Given the description of an element on the screen output the (x, y) to click on. 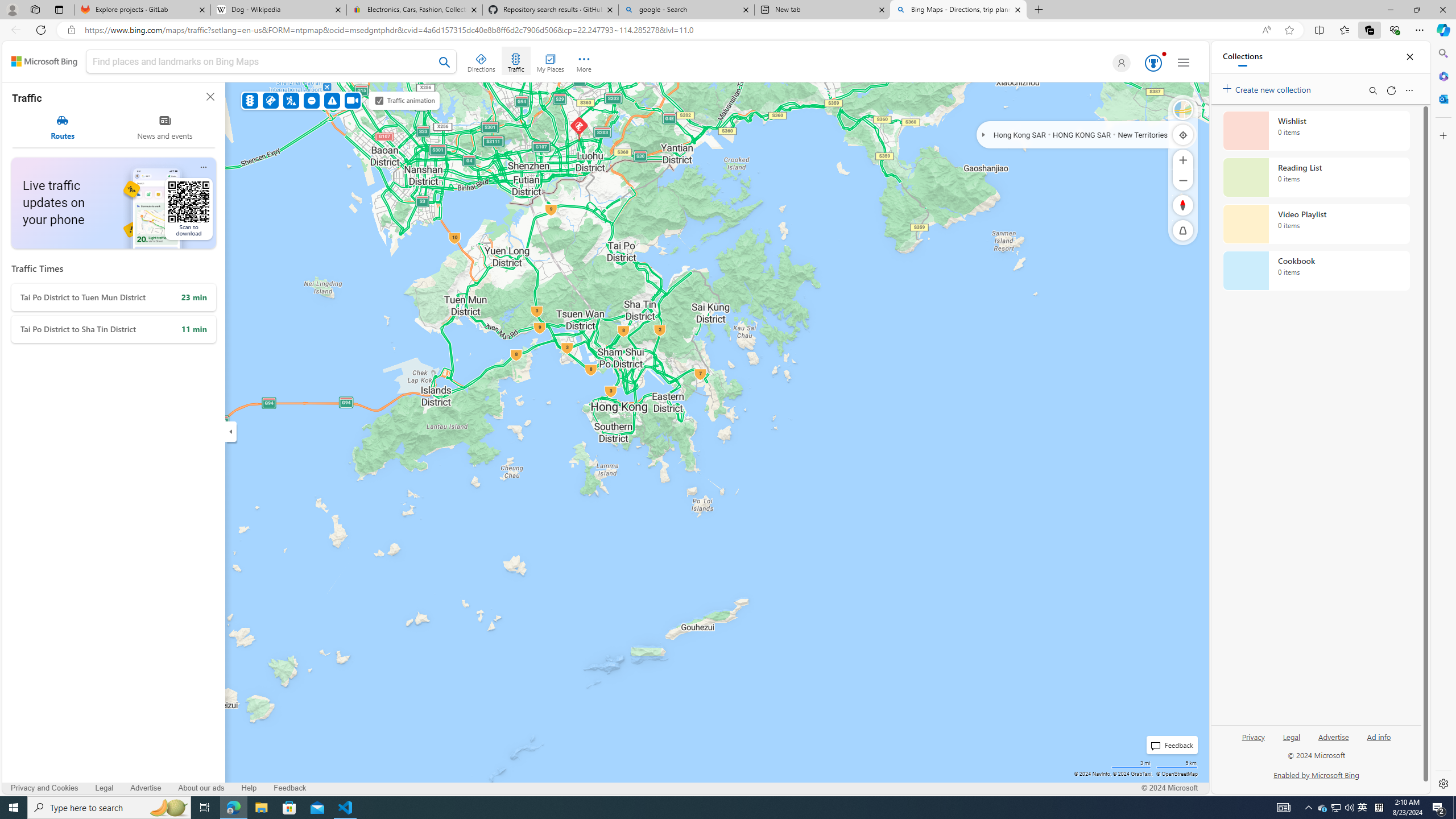
Streetside (1182, 109)
Locate me (1182, 134)
Road Closures (312, 100)
Bird's eye (1182, 109)
AutomationID: rh_meter (1152, 62)
Zoom Out (1182, 180)
Live traffic updates on your phone Scan to download (113, 202)
News and events (164, 127)
More (583, 60)
Add a search (263, 60)
Cameras (353, 100)
Video Playlist collection, 0 items (1316, 223)
